Given the description of an element on the screen output the (x, y) to click on. 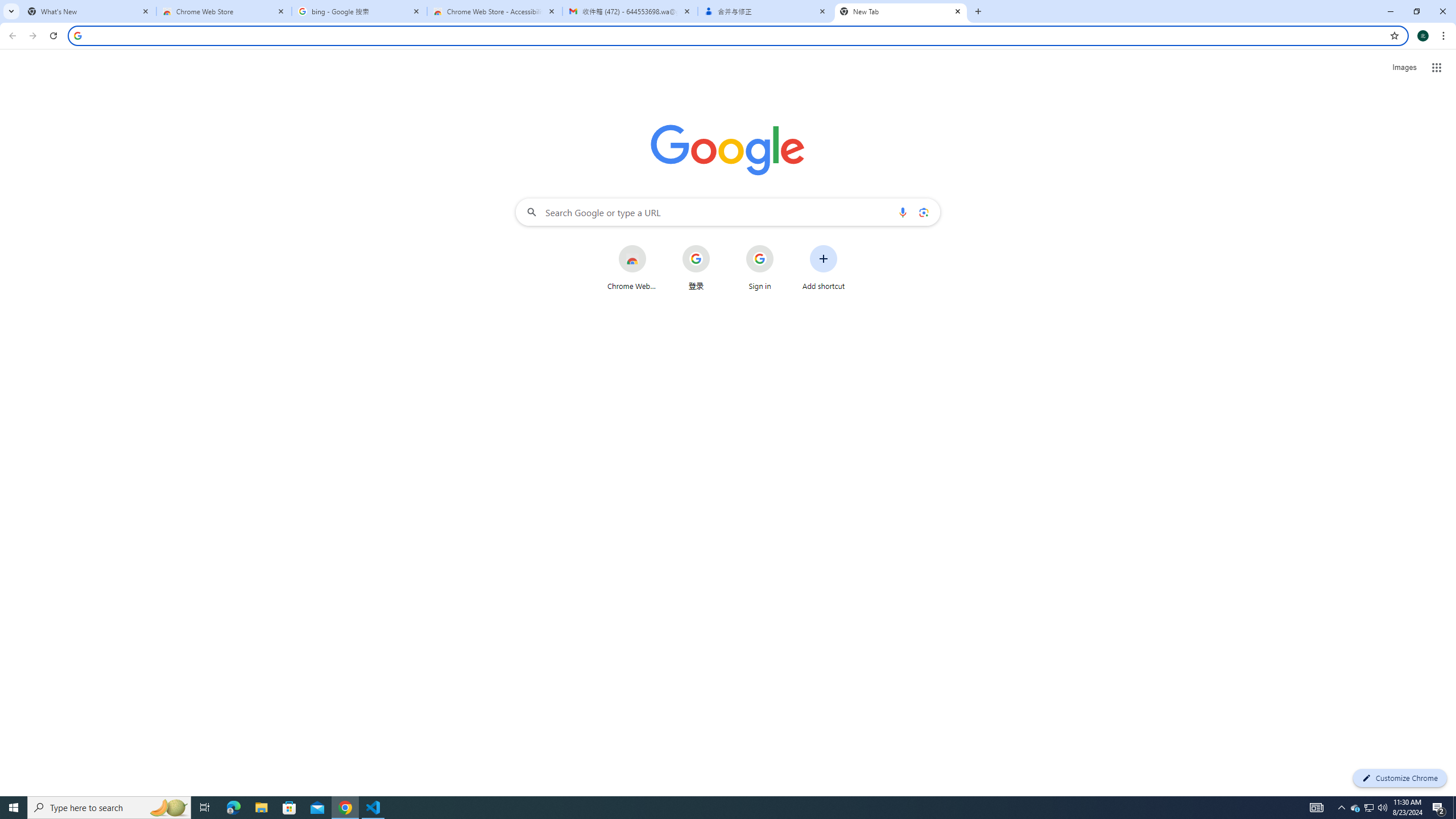
Photos, row 5 of 5 and column 1 of 3 in the first section (1293, 349)
Shopping, row 5 of 5 and column 2 of 3 in the first section (1348, 349)
Play, row 4 of 5 and column 2 of 3 in the first section (1348, 294)
New Tab (901, 11)
